Given the description of an element on the screen output the (x, y) to click on. 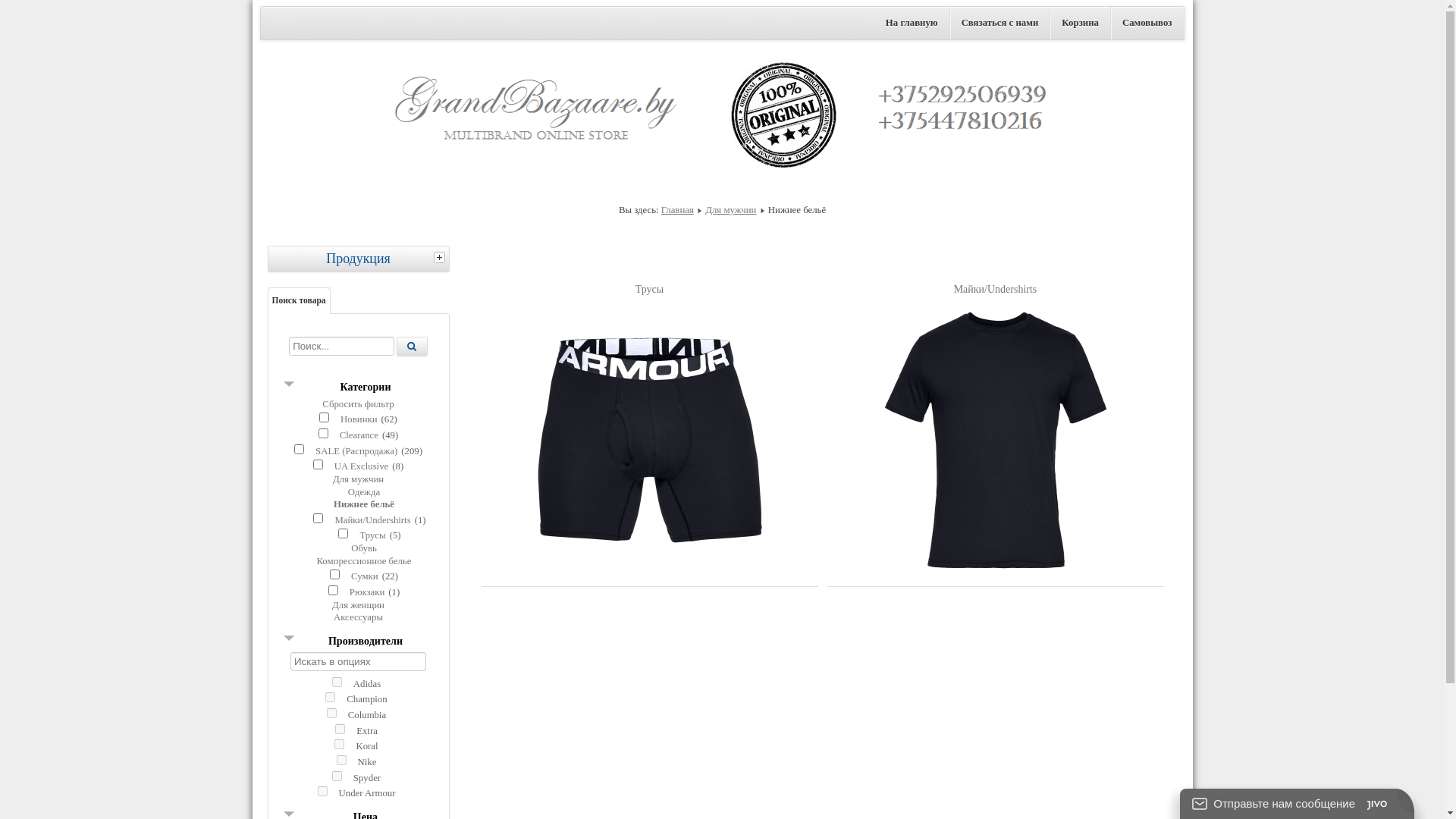
Clearance Element type: text (358, 435)
select Element type: hover (440, 256)
UA Exclusive Element type: text (361, 466)
